Given the description of an element on the screen output the (x, y) to click on. 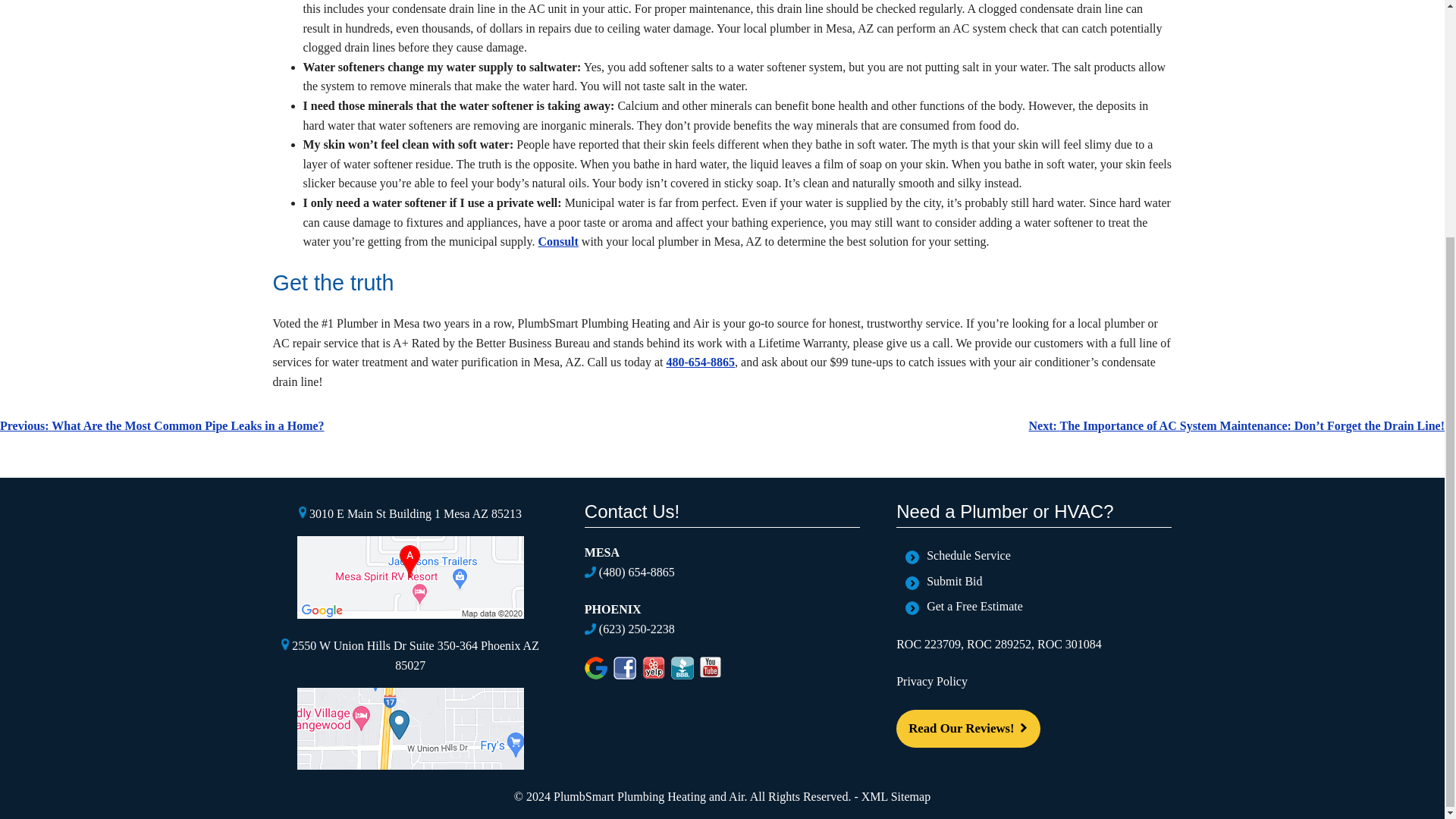
blue phone icon (590, 572)
click to call (700, 361)
Marker (301, 512)
blue phone icon (590, 628)
view on google maps (410, 614)
Marker (284, 644)
home page (558, 241)
view on google maps (410, 765)
Terms and Conditions (798, 796)
